Given the description of an element on the screen output the (x, y) to click on. 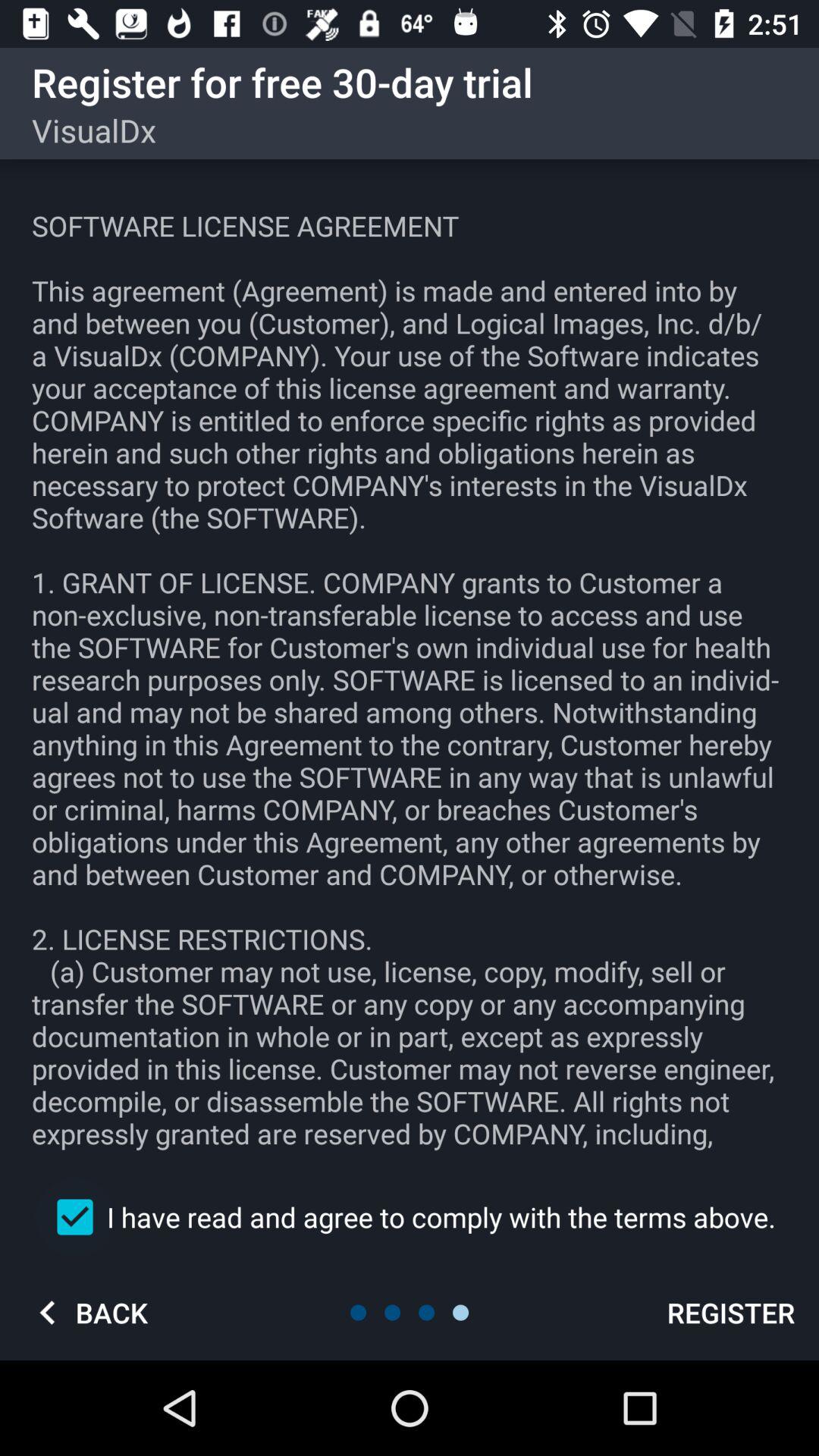
turn off the item below software license agreement (409, 1216)
